Given the description of an element on the screen output the (x, y) to click on. 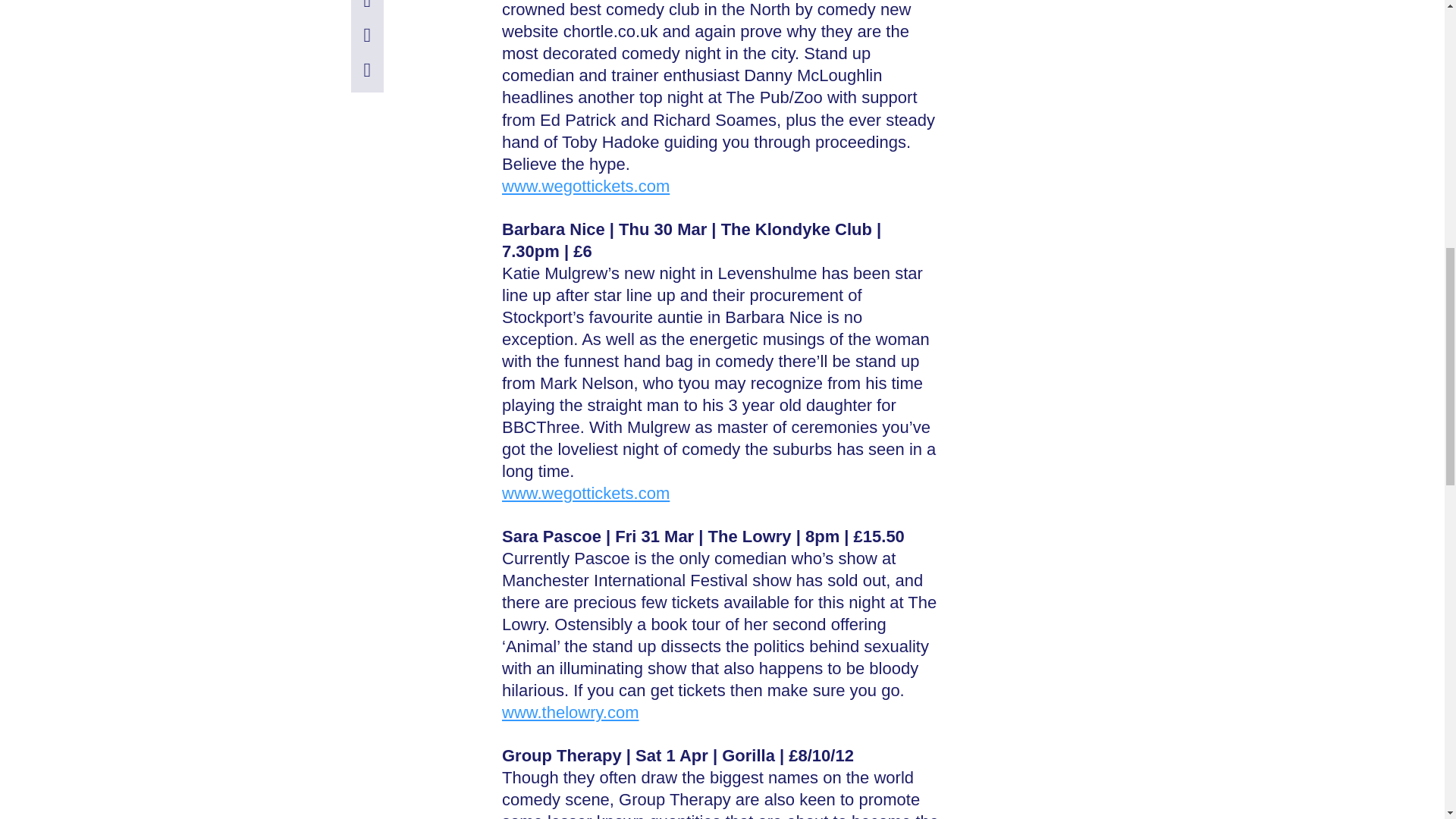
www.thelowry.com (570, 711)
www.wegottickets.com (585, 493)
www.wegottickets.com (585, 185)
